Given the description of an element on the screen output the (x, y) to click on. 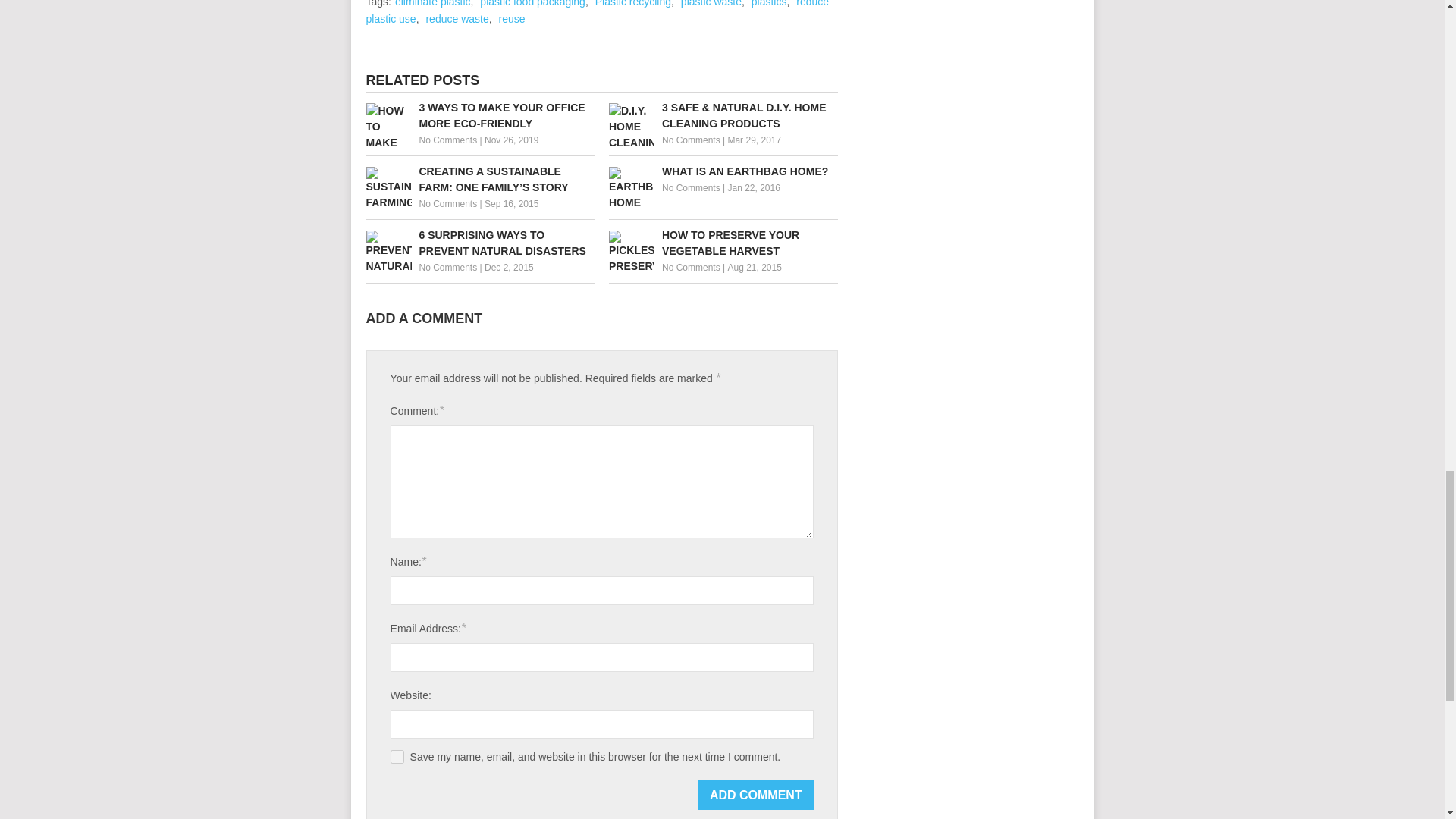
Plastic recycling (633, 3)
3 Ways to Make Your Office More Eco-Friendly (479, 115)
eliminate plastic (432, 3)
yes (397, 756)
Add Comment (755, 794)
plastic food packaging (532, 3)
